Given the description of an element on the screen output the (x, y) to click on. 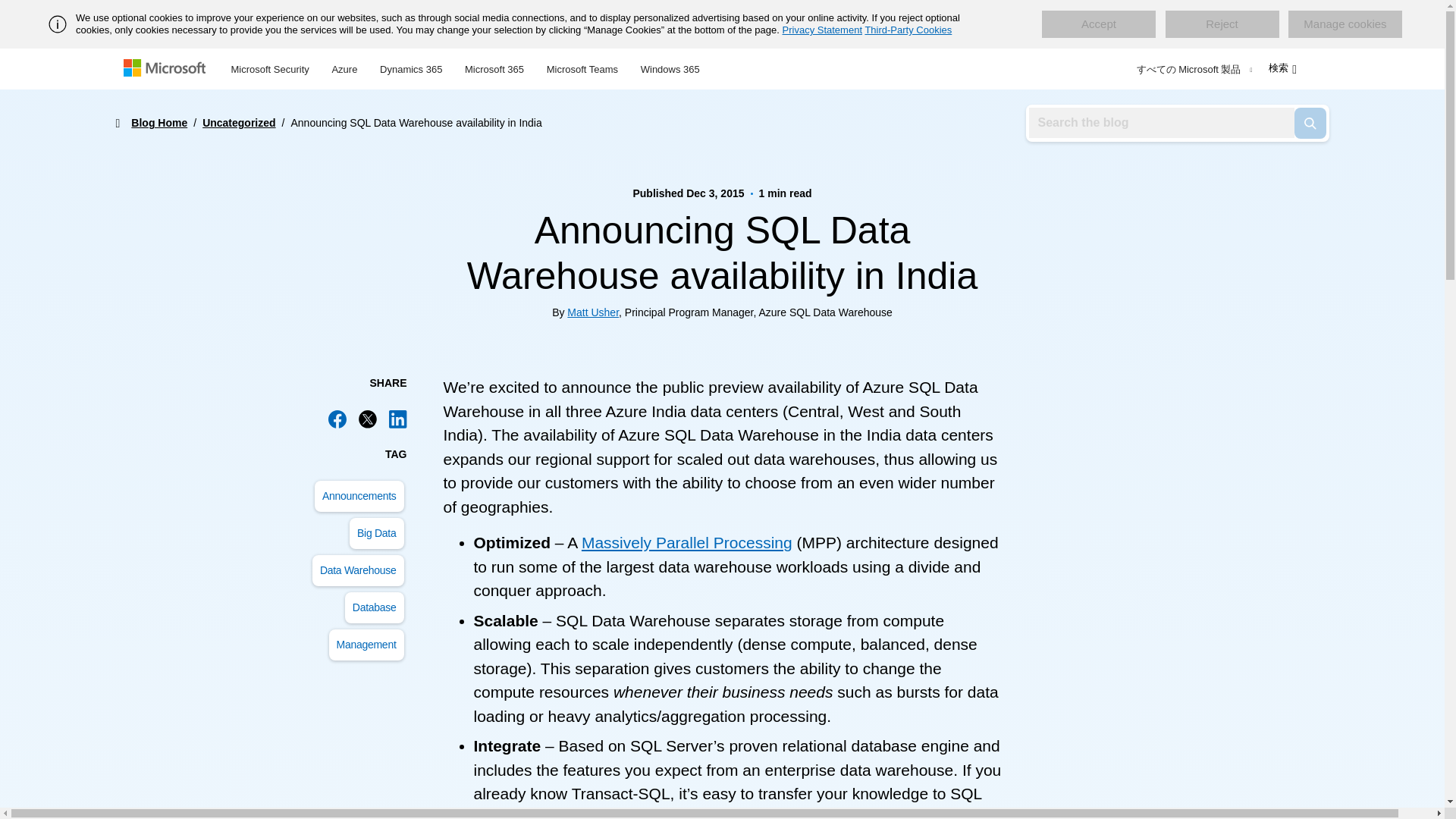
Windows 365 (669, 67)
Privacy Statement (823, 30)
Microsoft Security (269, 67)
Azure (344, 67)
Microsoft (167, 69)
Microsoft 365 (494, 67)
Manage cookies (1345, 23)
Accept (1099, 23)
Microsoft Teams (582, 67)
Dynamics 365 (410, 67)
